Given the description of an element on the screen output the (x, y) to click on. 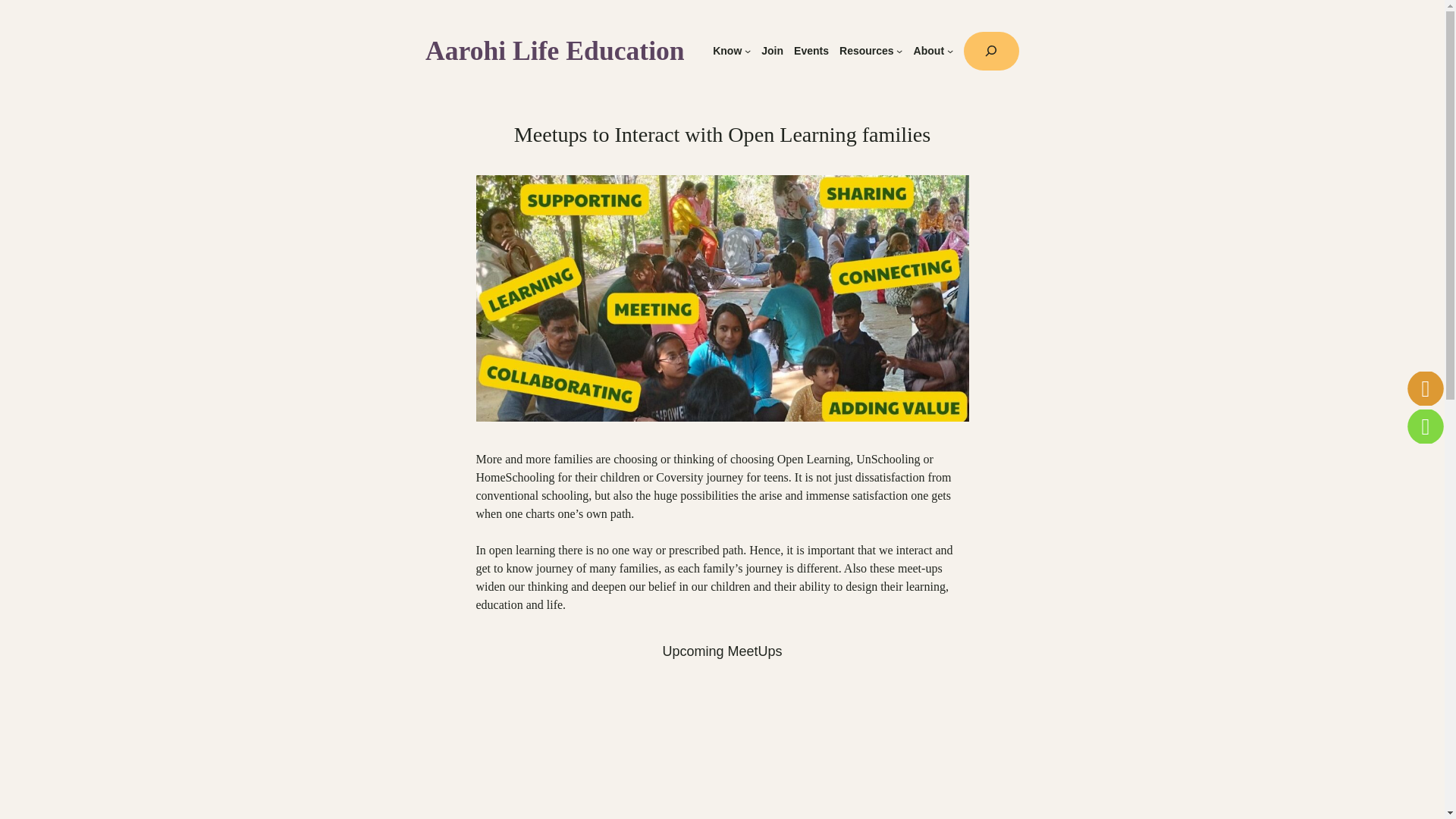
Resources (866, 50)
About (928, 50)
Events (810, 50)
Know (727, 50)
Join (772, 50)
Aarohi Life Education (554, 51)
